Given the description of an element on the screen output the (x, y) to click on. 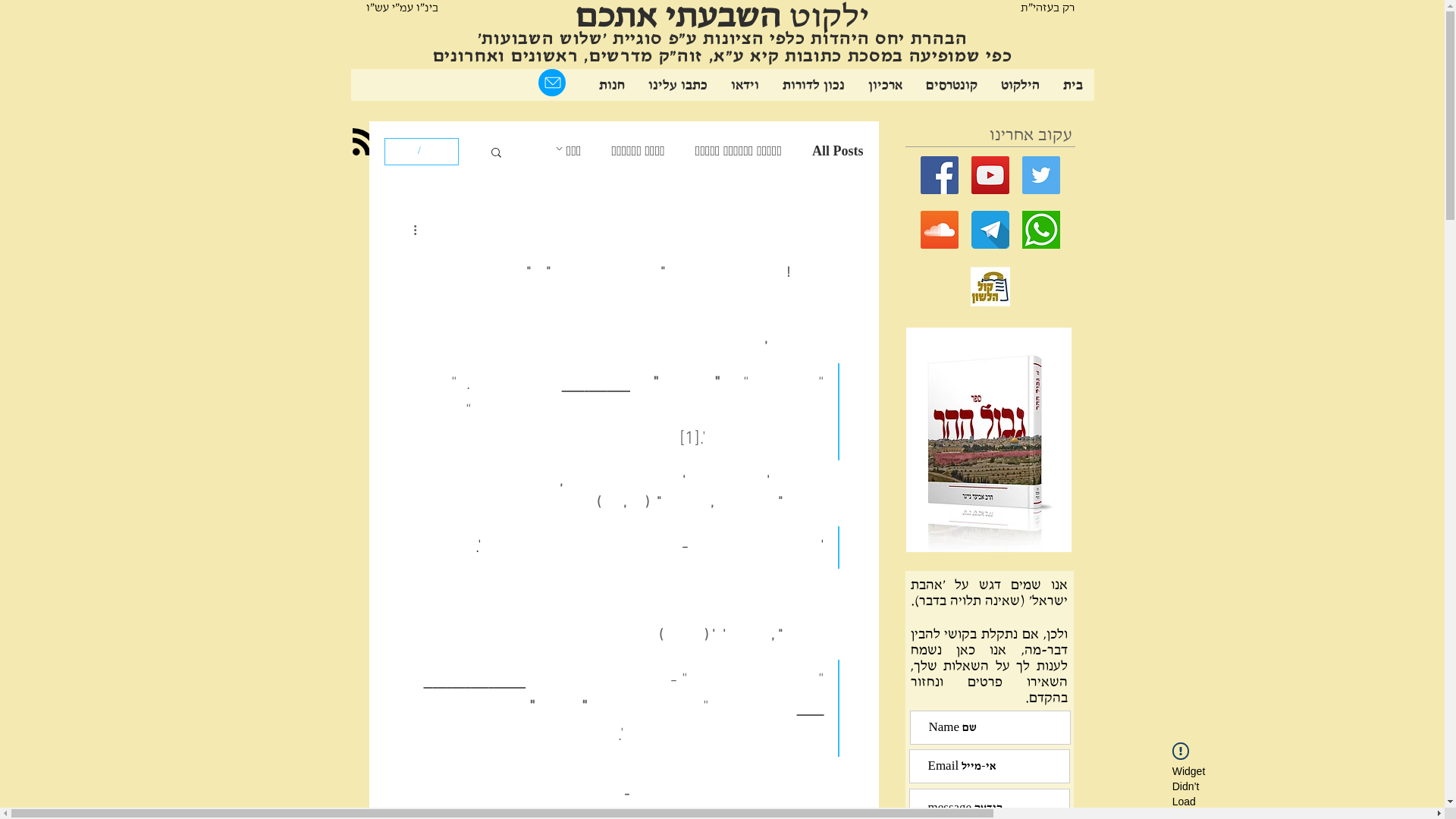
All Posts Element type: text (837, 151)
Site Search Element type: hover (457, 84)
